Given the description of an element on the screen output the (x, y) to click on. 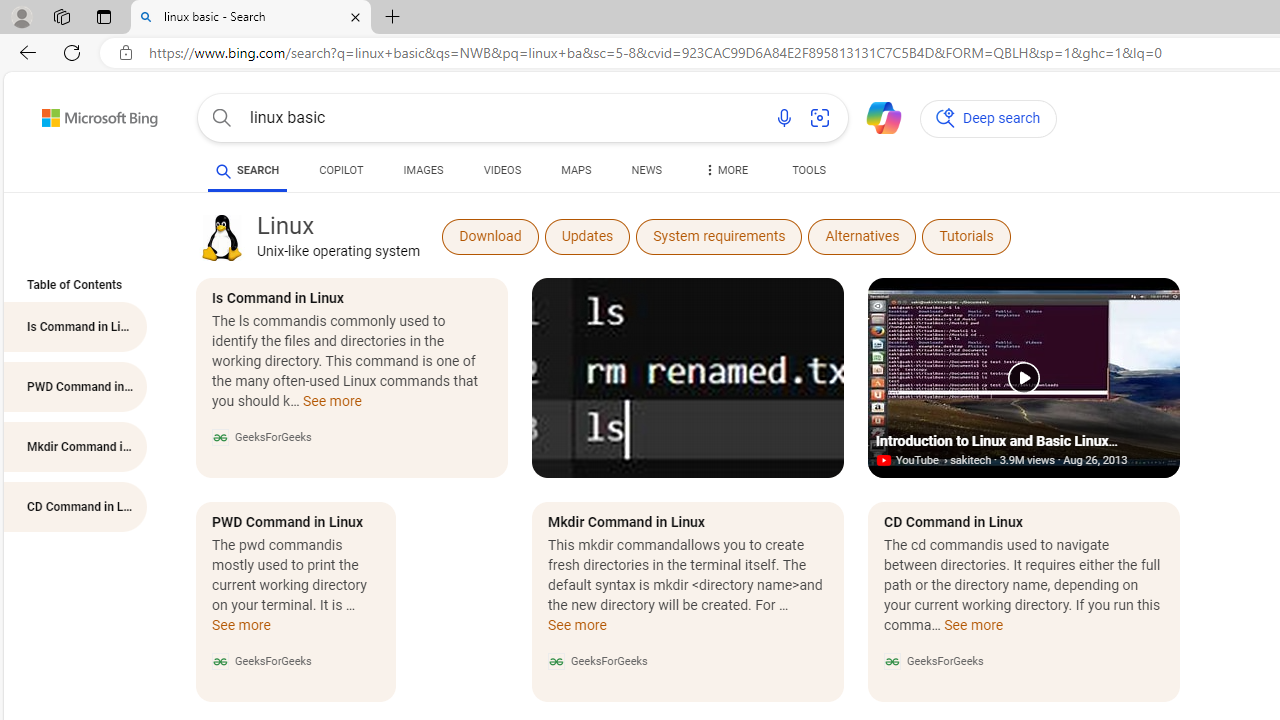
AutomationID: b-scopeListItem-conv (341, 173)
linux basic - Search (250, 17)
See more Mkdir Command in Linux (576, 630)
Chat (875, 116)
Introduction to Linux and Basic Linux Commands for Beginners (1023, 377)
Search using an image (820, 117)
AutomationID: scope_tools_wrapper (808, 173)
Back to Bing search (87, 113)
See more Is Command in Linux (332, 406)
Search using voice (783, 117)
